Given the description of an element on the screen output the (x, y) to click on. 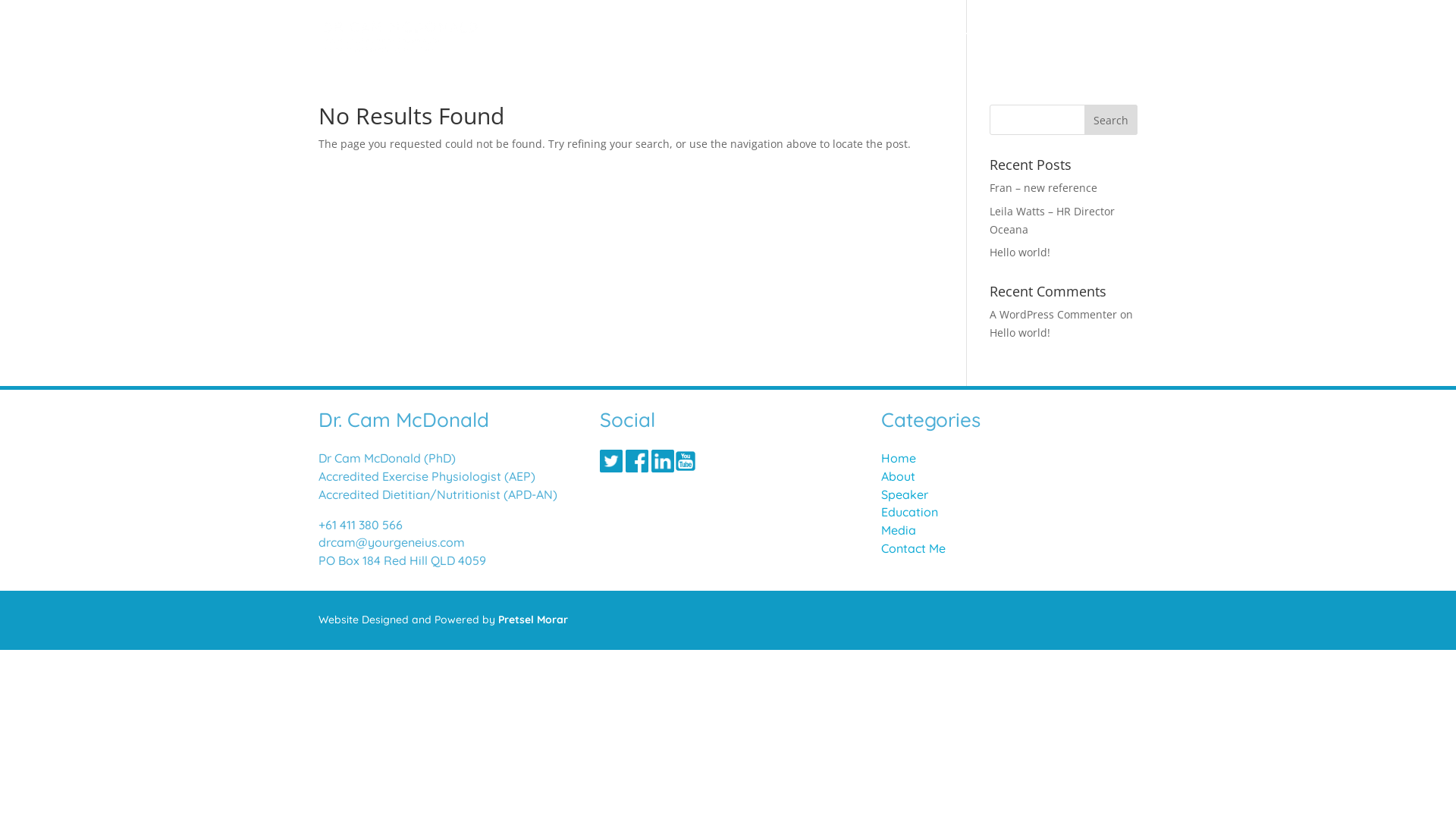
Contact Me Element type: text (1106, 42)
Hello world! Element type: text (1019, 332)
Home Element type: text (898, 457)
Pretsel Morar Element type: text (532, 619)
Home Element type: text (794, 42)
A WordPress Commenter Element type: text (1053, 314)
About Element type: text (847, 42)
Media Element type: text (898, 529)
About Element type: text (898, 475)
Hello world! Element type: text (1019, 251)
Media Element type: text (1039, 42)
Speaker Element type: text (904, 494)
Education Element type: text (976, 42)
Education Element type: text (909, 511)
Contact Me Element type: text (913, 547)
Speaker Element type: text (906, 42)
Search Element type: text (1110, 119)
